Given the description of an element on the screen output the (x, y) to click on. 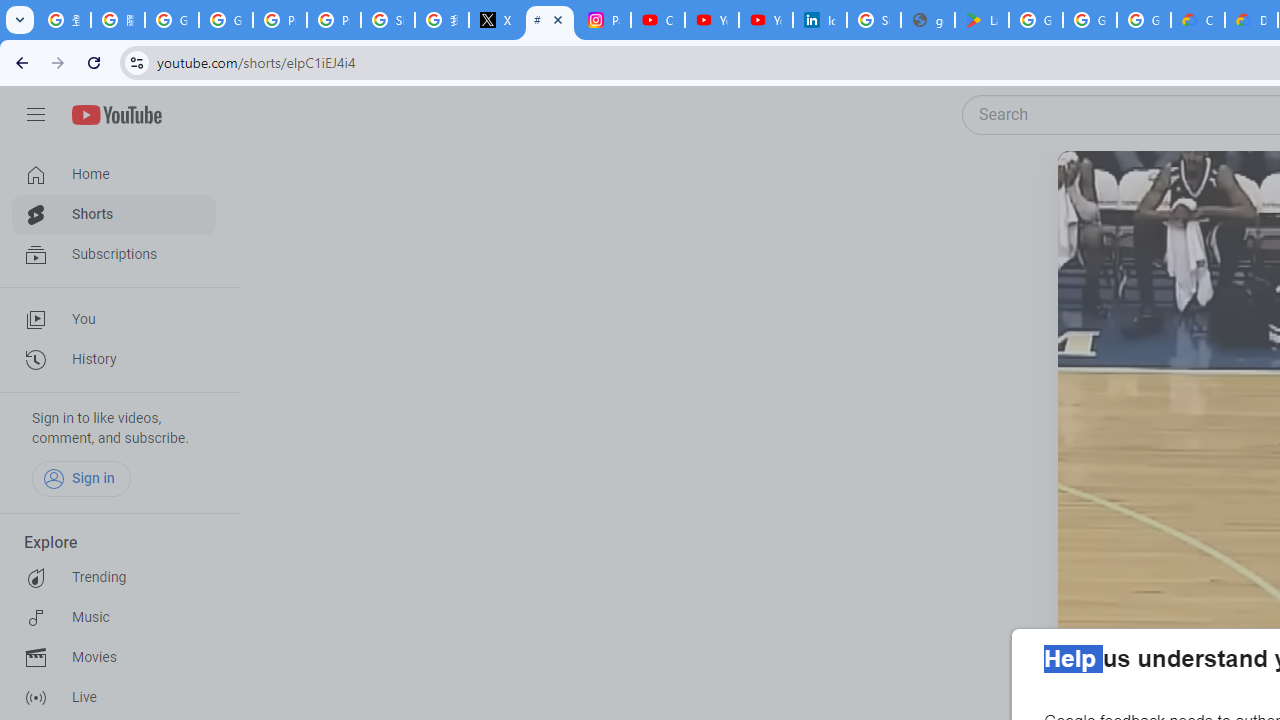
Trending (113, 578)
Privacy Help Center - Policies Help (333, 20)
YouTube Home (116, 115)
Play (k) (1097, 191)
Google Workspace - Specific Terms (1089, 20)
Subscriptions (113, 254)
Privacy Help Center - Policies Help (280, 20)
Guide (35, 115)
